Given the description of an element on the screen output the (x, y) to click on. 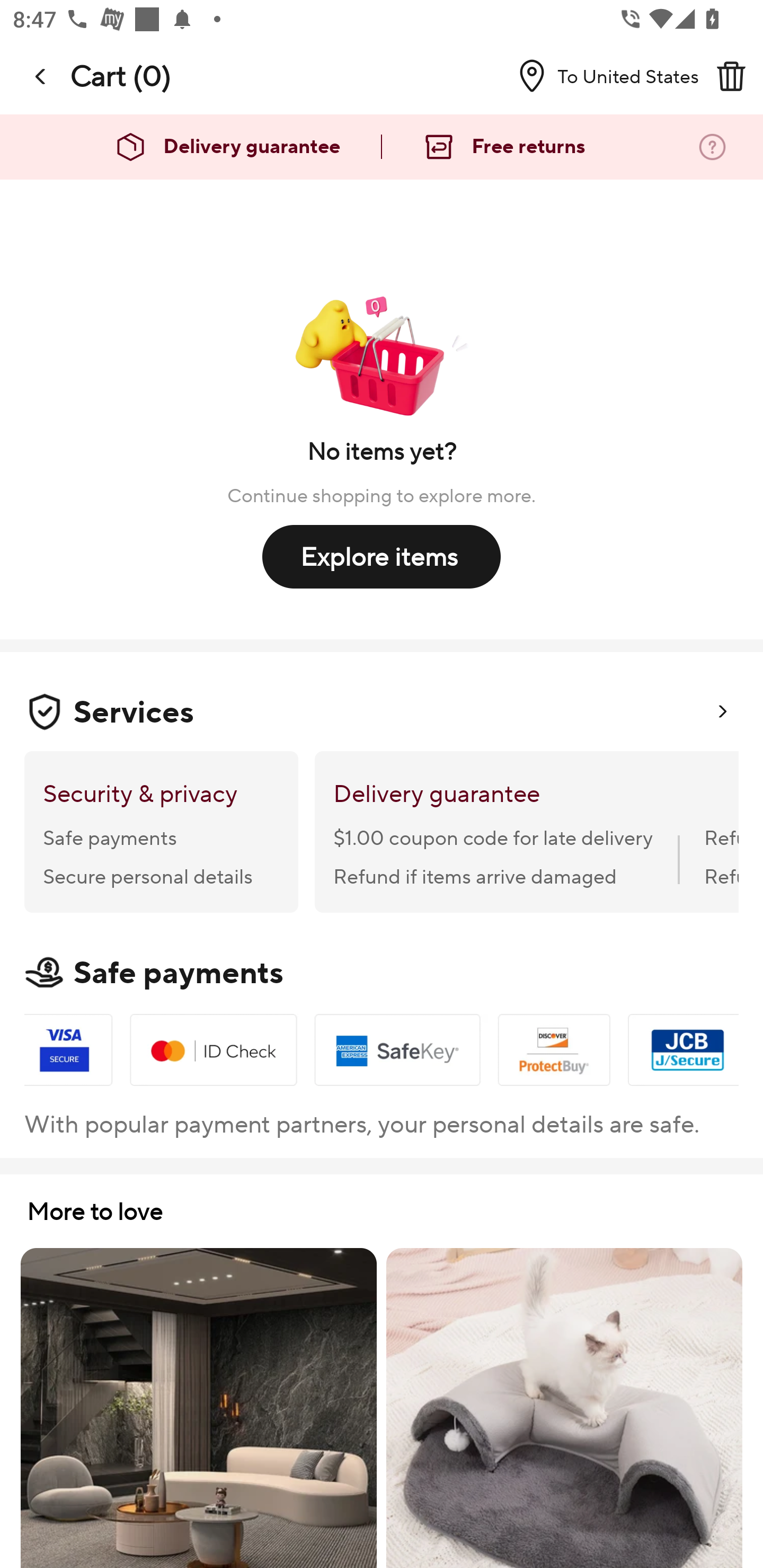
 (41, 76)
 To United States (601, 75)
 (730, 75)
Explore items  (381, 556)
